Given the description of an element on the screen output the (x, y) to click on. 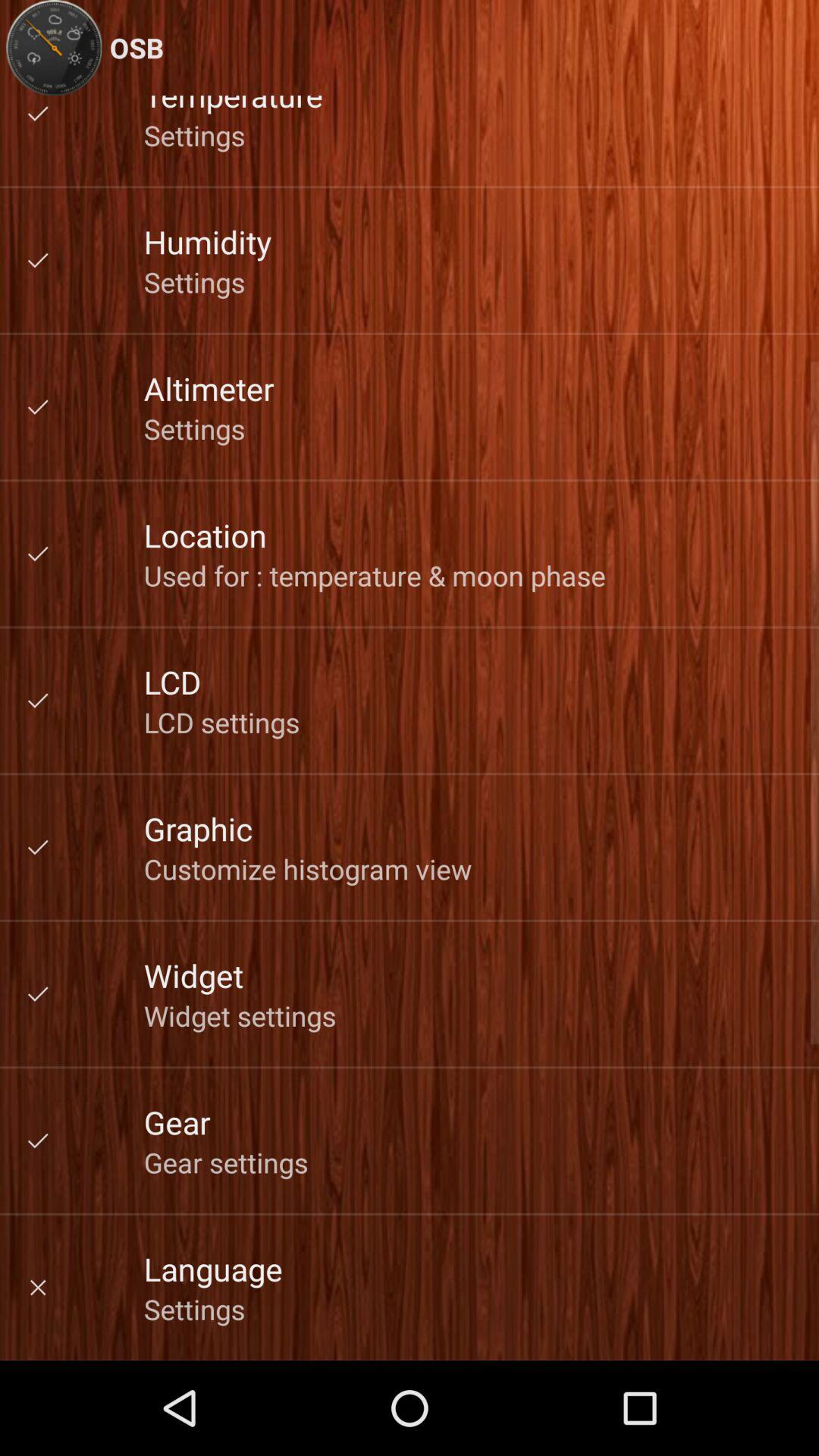
launch the location app (204, 534)
